Given the description of an element on the screen output the (x, y) to click on. 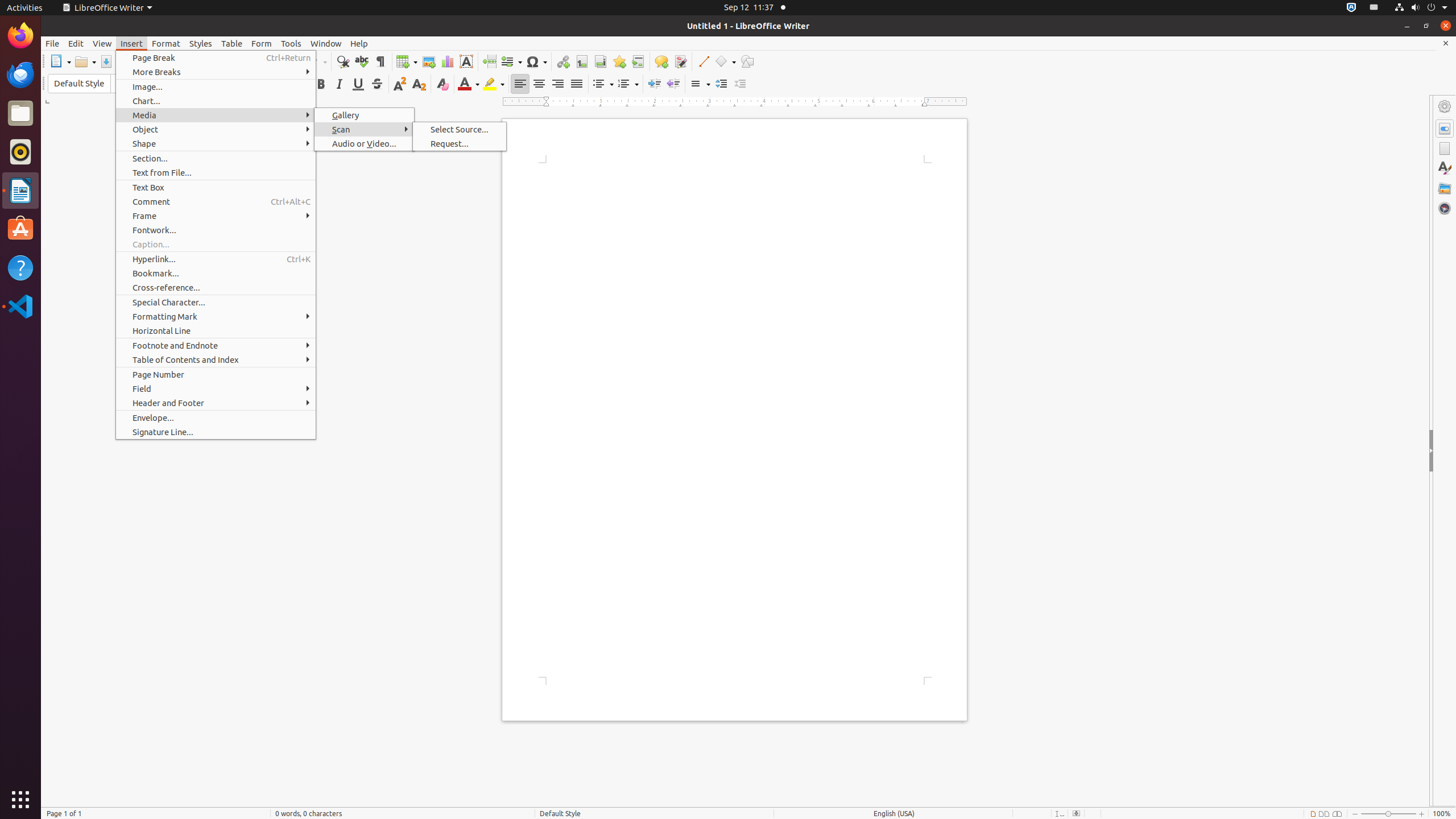
Decrease Element type: push-button (739, 83)
Styles Element type: radio-button (1444, 168)
More Breaks Element type: menu (215, 71)
Page Break Element type: menu-item (215, 57)
Left Element type: toggle-button (519, 83)
